Given the description of an element on the screen output the (x, y) to click on. 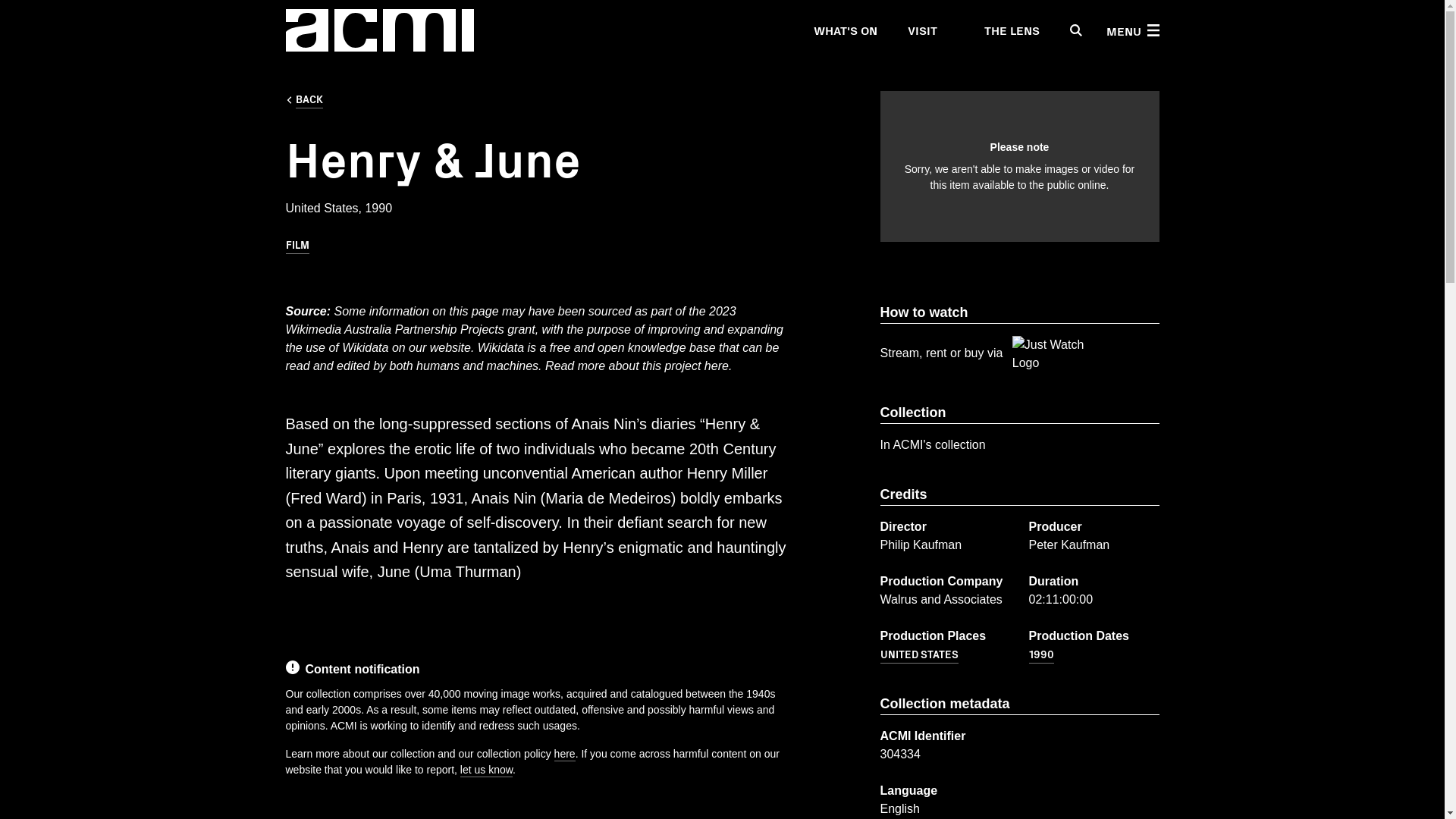
MENU (1131, 29)
THE LENS (1003, 30)
WHAT'S ON (844, 30)
VISIT (921, 30)
